Given the description of an element on the screen output the (x, y) to click on. 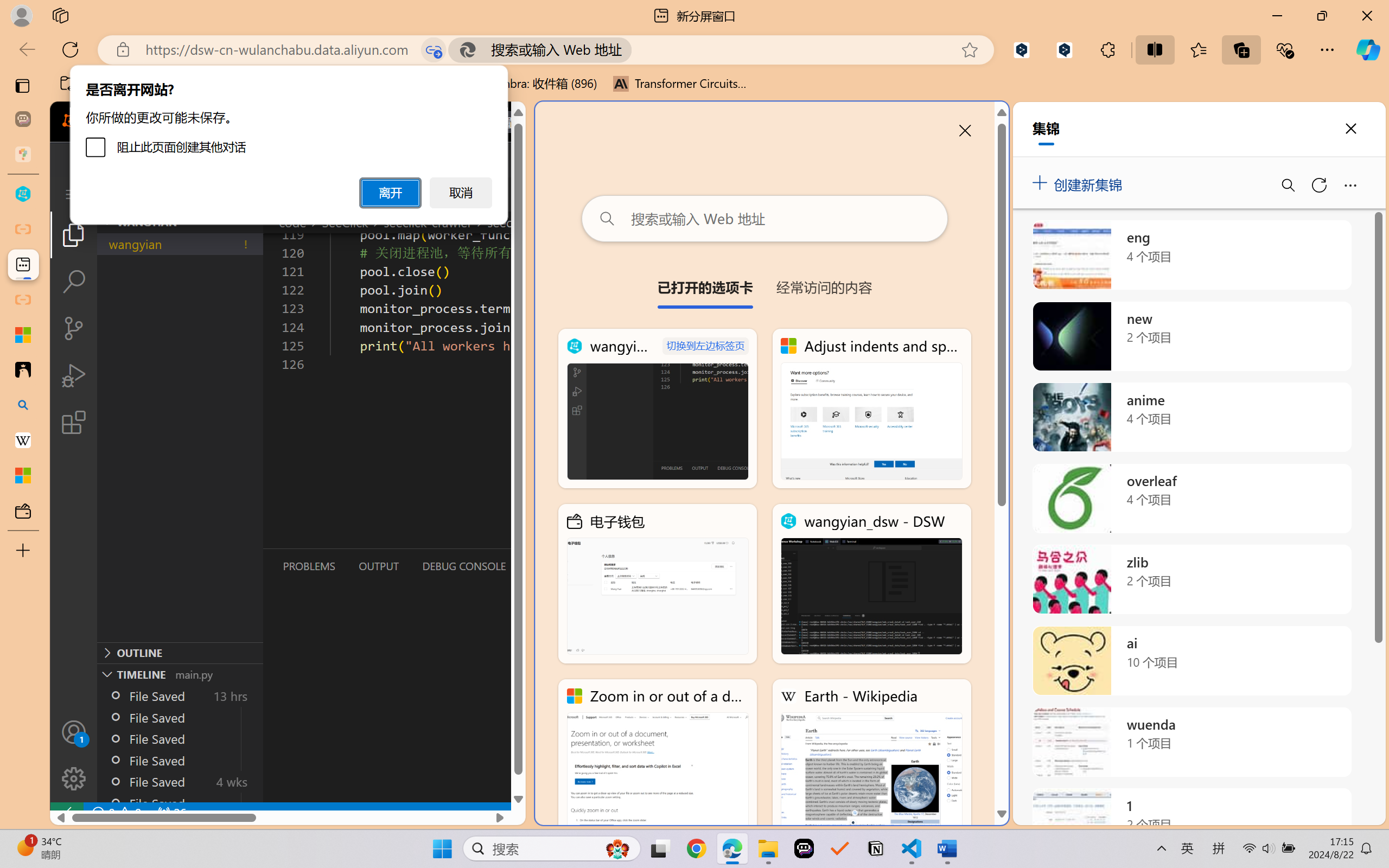
Character Spacing (242, 71)
Paste (15, 62)
Translator (1377, 132)
Zoom (1315, 837)
Copy (46, 62)
AutomationID: ShapesInsertGallery (549, 60)
Home (46, 29)
AutoSave (37, 9)
Replace... (731, 60)
Cut (39, 47)
Review (343, 29)
